Given the description of an element on the screen output the (x, y) to click on. 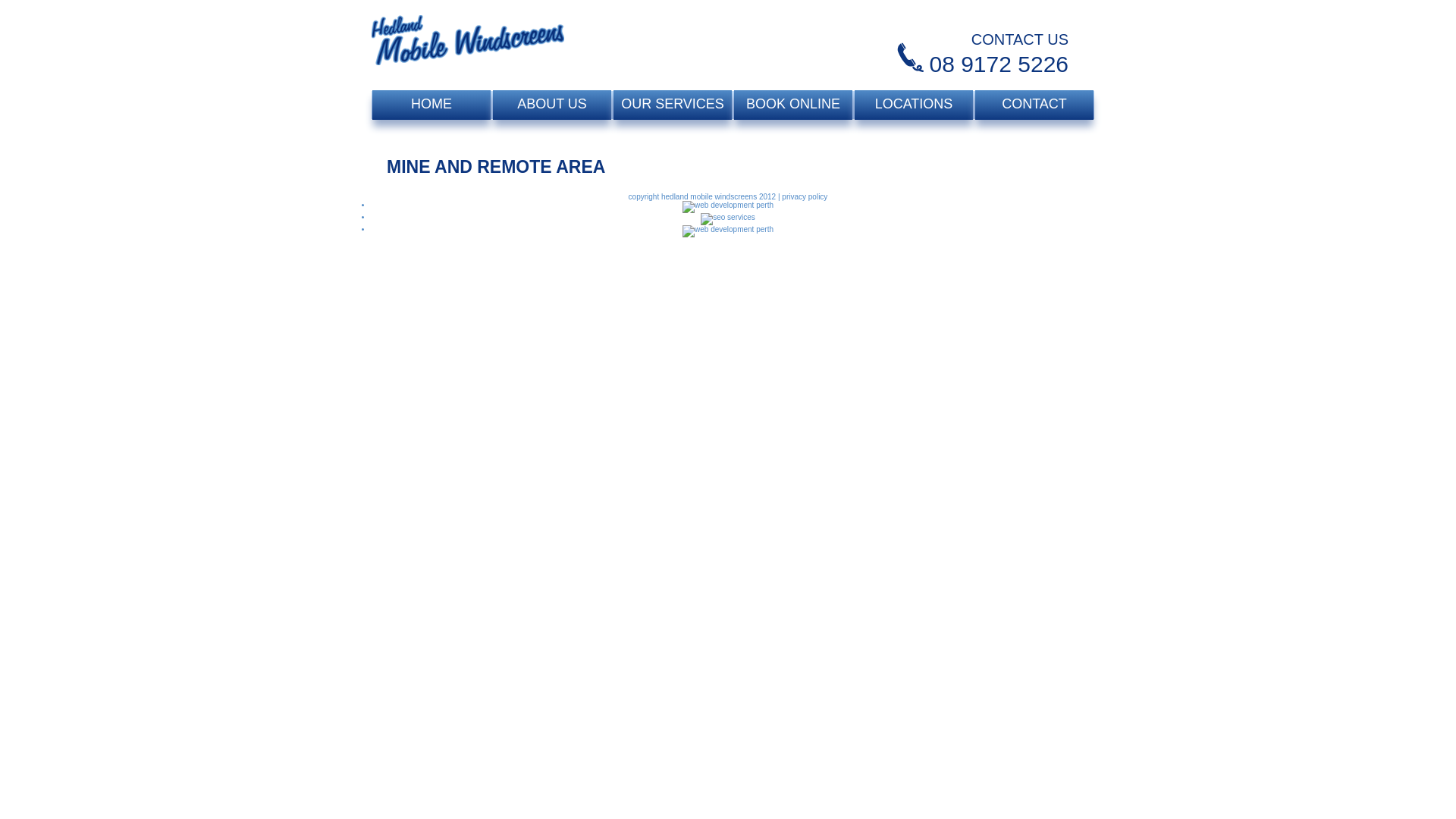
CONTACT Element type: text (1034, 104)
LOCATIONS Element type: text (913, 104)
ABOUT US Element type: text (551, 104)
privacy policy Element type: text (804, 196)
OUR SERVICES Element type: text (672, 104)
BOOK ONLINE Element type: text (793, 104)
HOME Element type: text (431, 104)
Hedland Mobile Windscreens Element type: text (467, 45)
